Given the description of an element on the screen output the (x, y) to click on. 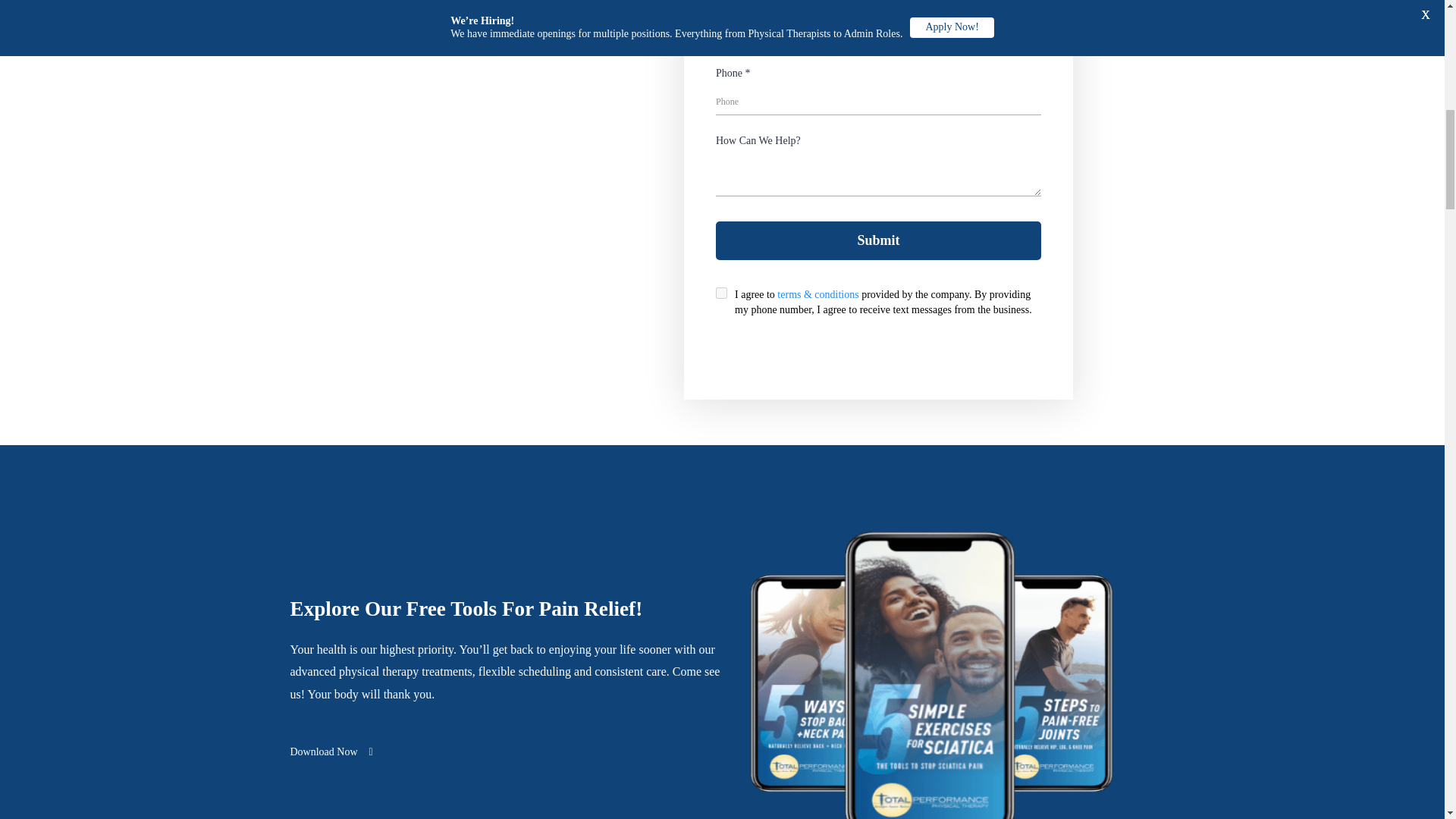
Download Now (330, 751)
Z - Total Performance Website Form - Contact Us (878, 184)
